Given the description of an element on the screen output the (x, y) to click on. 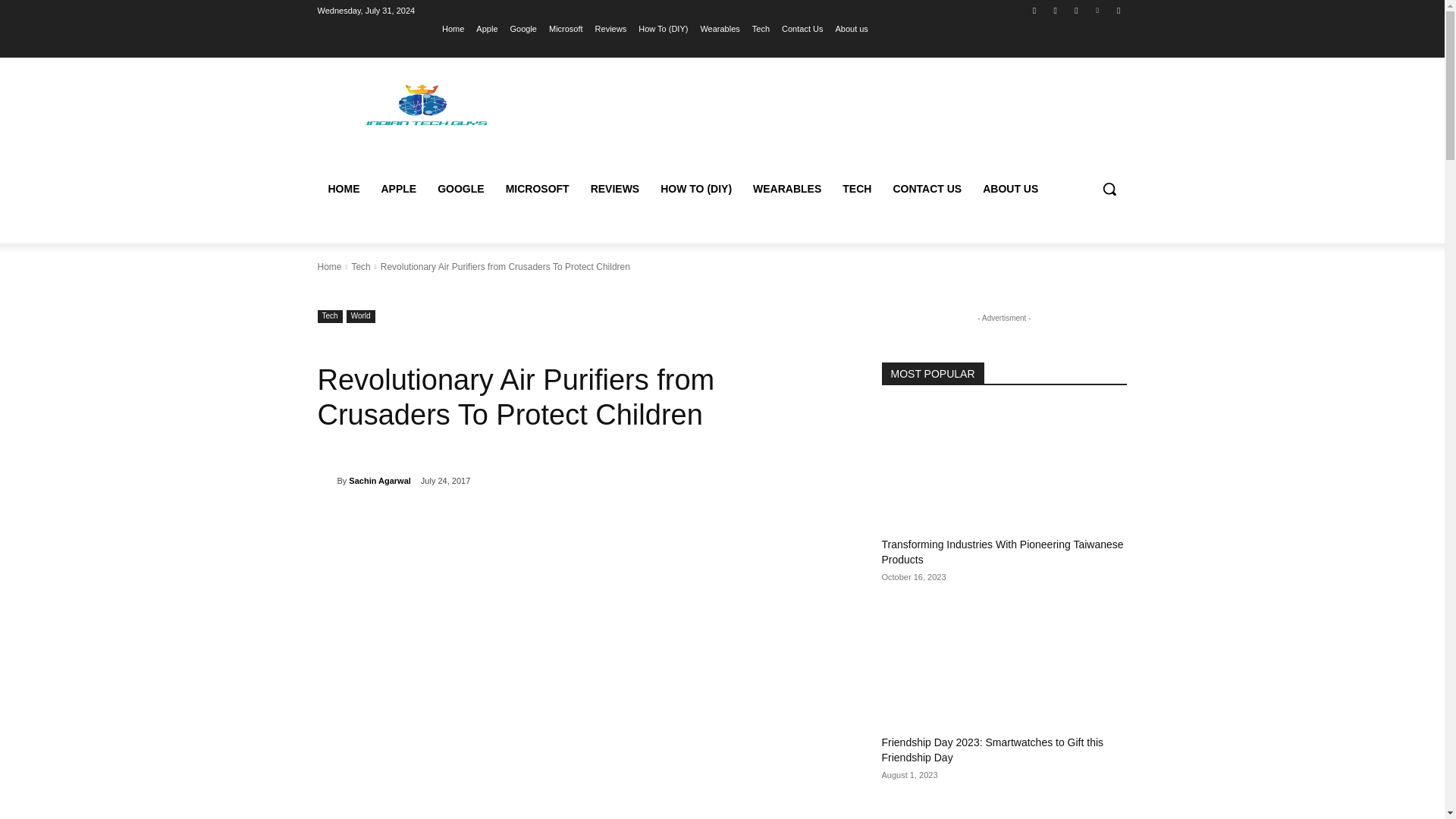
APPLE (397, 188)
About us (850, 28)
GOOGLE (460, 188)
Your Tech-World Simplified (425, 102)
Facebook (1034, 9)
Apple (486, 28)
Twitter (1075, 9)
Wearables (719, 28)
HOME (343, 188)
WEARABLES (786, 188)
Microsoft (565, 28)
Instagram (1055, 9)
MICROSOFT (537, 188)
Vimeo (1097, 9)
Contact Us (801, 28)
